Given the description of an element on the screen output the (x, y) to click on. 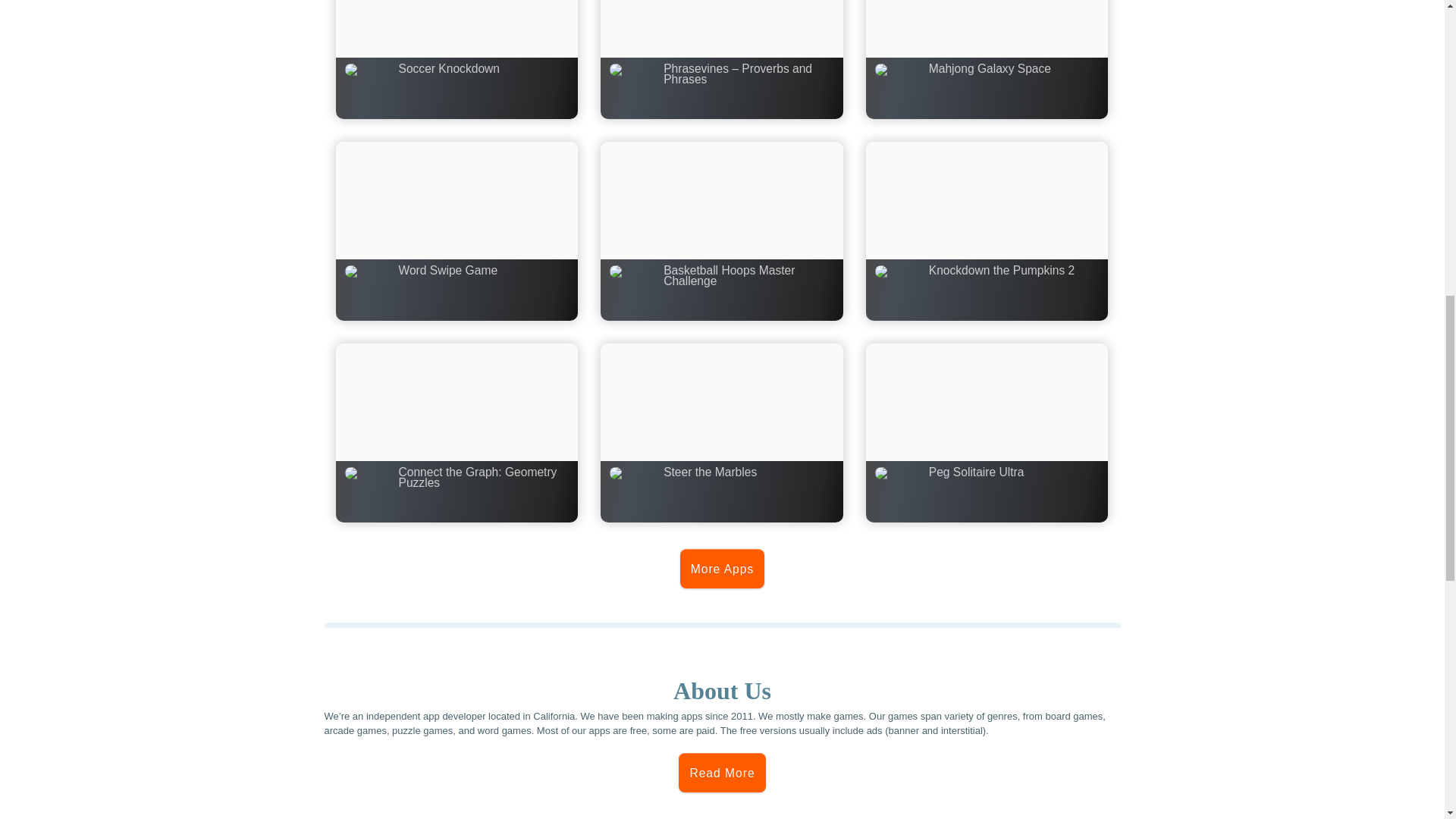
Soccer Knockdown (456, 59)
Mahjong Galaxy Space (987, 59)
Word Swipe Game (456, 231)
